Given the description of an element on the screen output the (x, y) to click on. 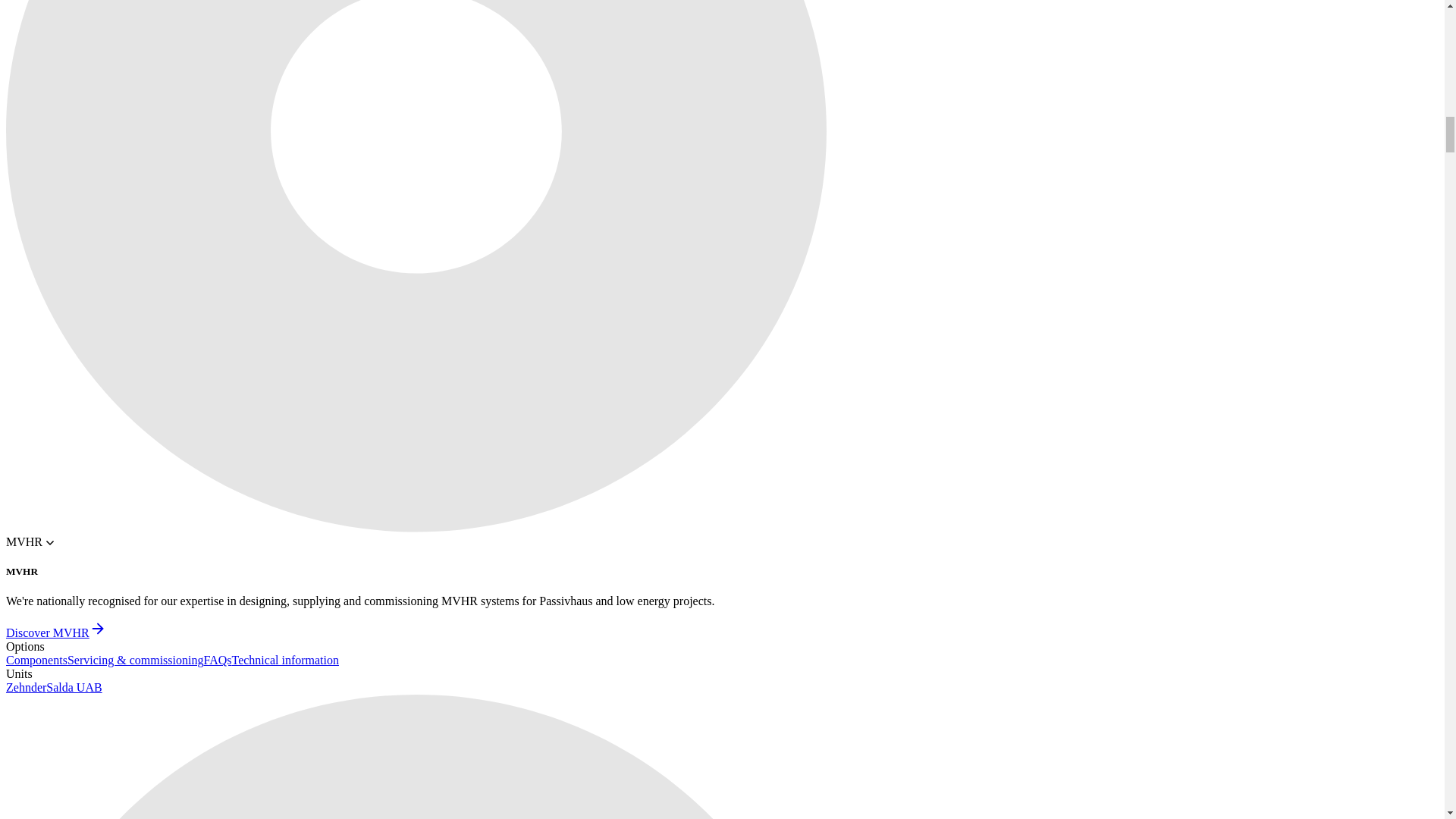
Zehnder (25, 686)
Discover MVHR (55, 632)
Technical information (285, 659)
Components (35, 659)
FAQs (217, 659)
